Given the description of an element on the screen output the (x, y) to click on. 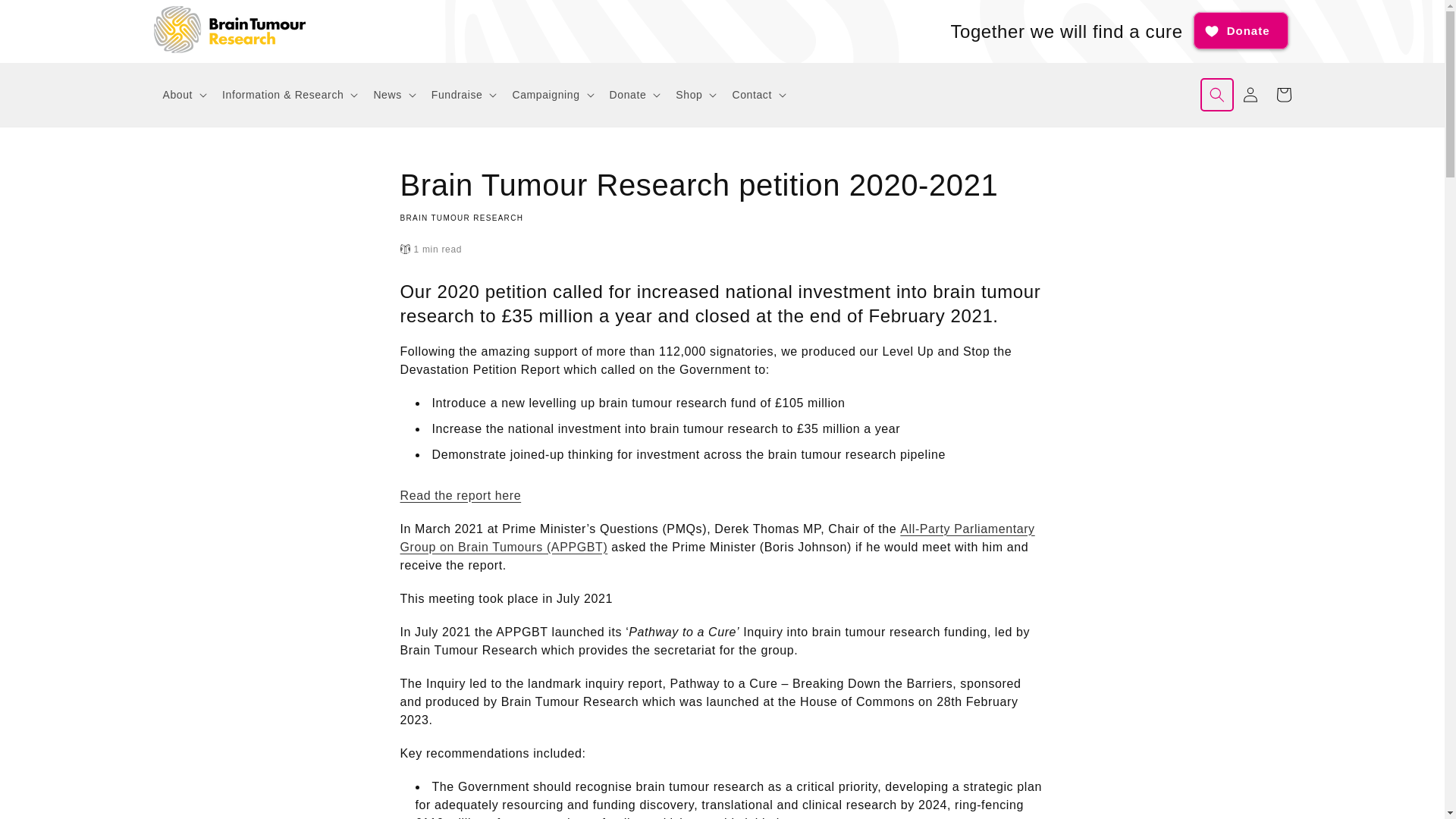
Donate (1241, 30)
Skip to content (45, 17)
